Given the description of an element on the screen output the (x, y) to click on. 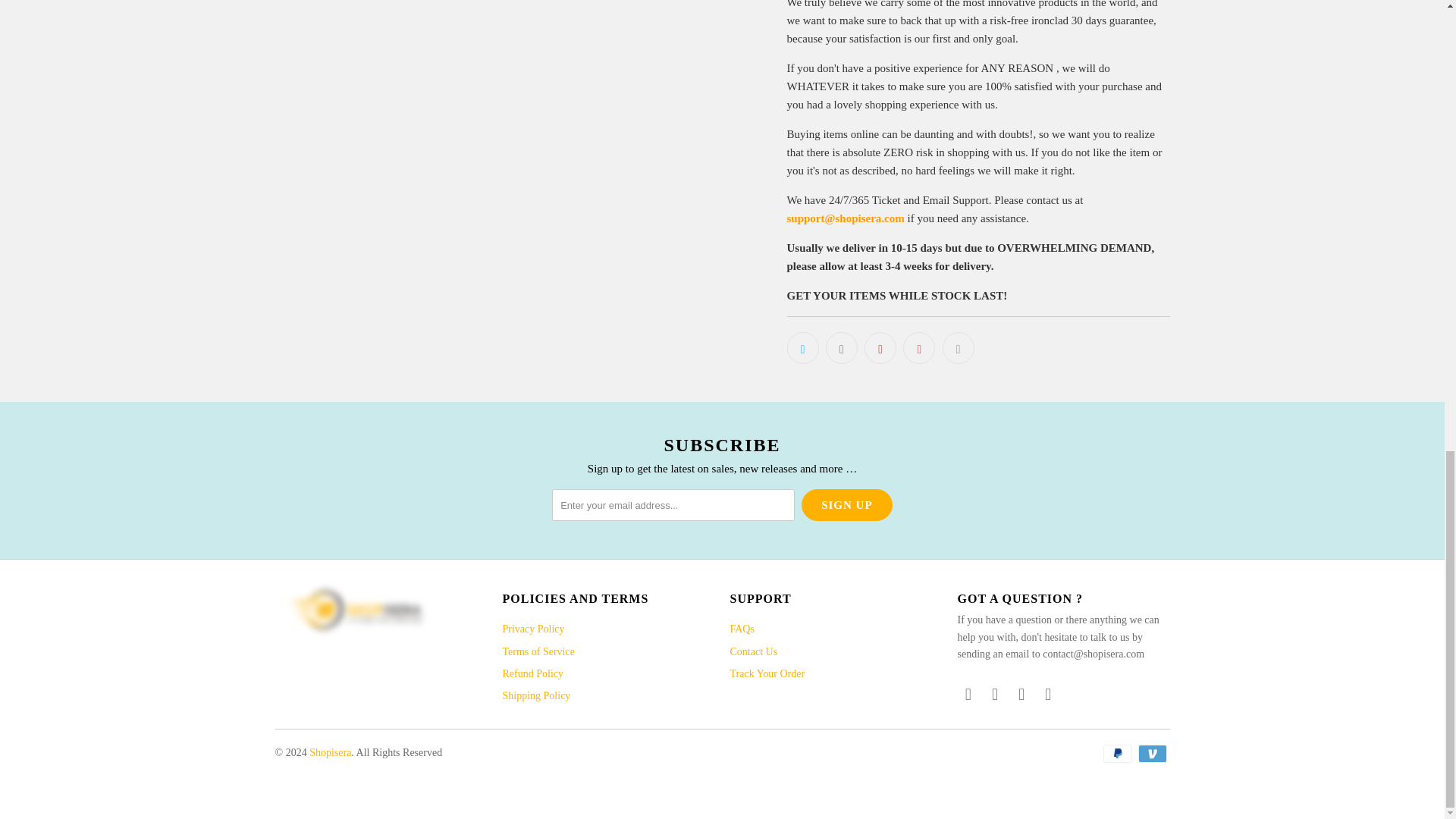
Shopisera on Instagram (1021, 694)
Email this to a friend (958, 347)
Shopisera on Facebook (995, 694)
Shopisera on Twitter (967, 694)
Share this on Twitter (802, 347)
Share this on Facebook (841, 347)
Share this on Pinterest (880, 347)
Email Shopisera (1047, 694)
Sign Up (847, 504)
